Given the description of an element on the screen output the (x, y) to click on. 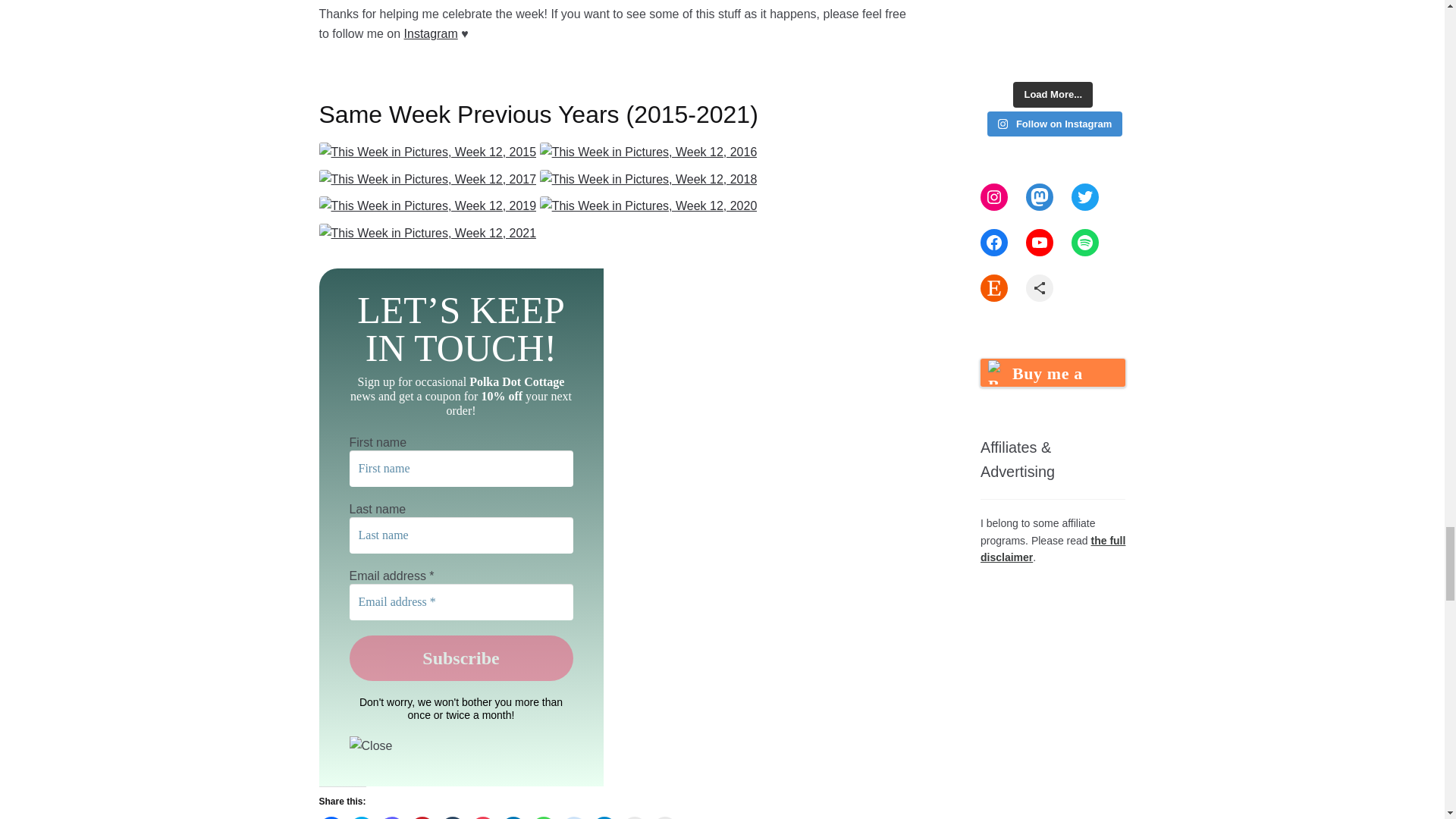
Click to share on LinkedIn (512, 817)
Click to share on Pinterest (421, 817)
Subscribe (461, 657)
Click to share on Facebook (330, 817)
Email address (461, 601)
Click to share on Tumblr (452, 817)
First name (461, 468)
Click to share on Mastodon (392, 817)
Click to share on Twitter (361, 817)
Click to share on Pocket (482, 817)
